Given the description of an element on the screen output the (x, y) to click on. 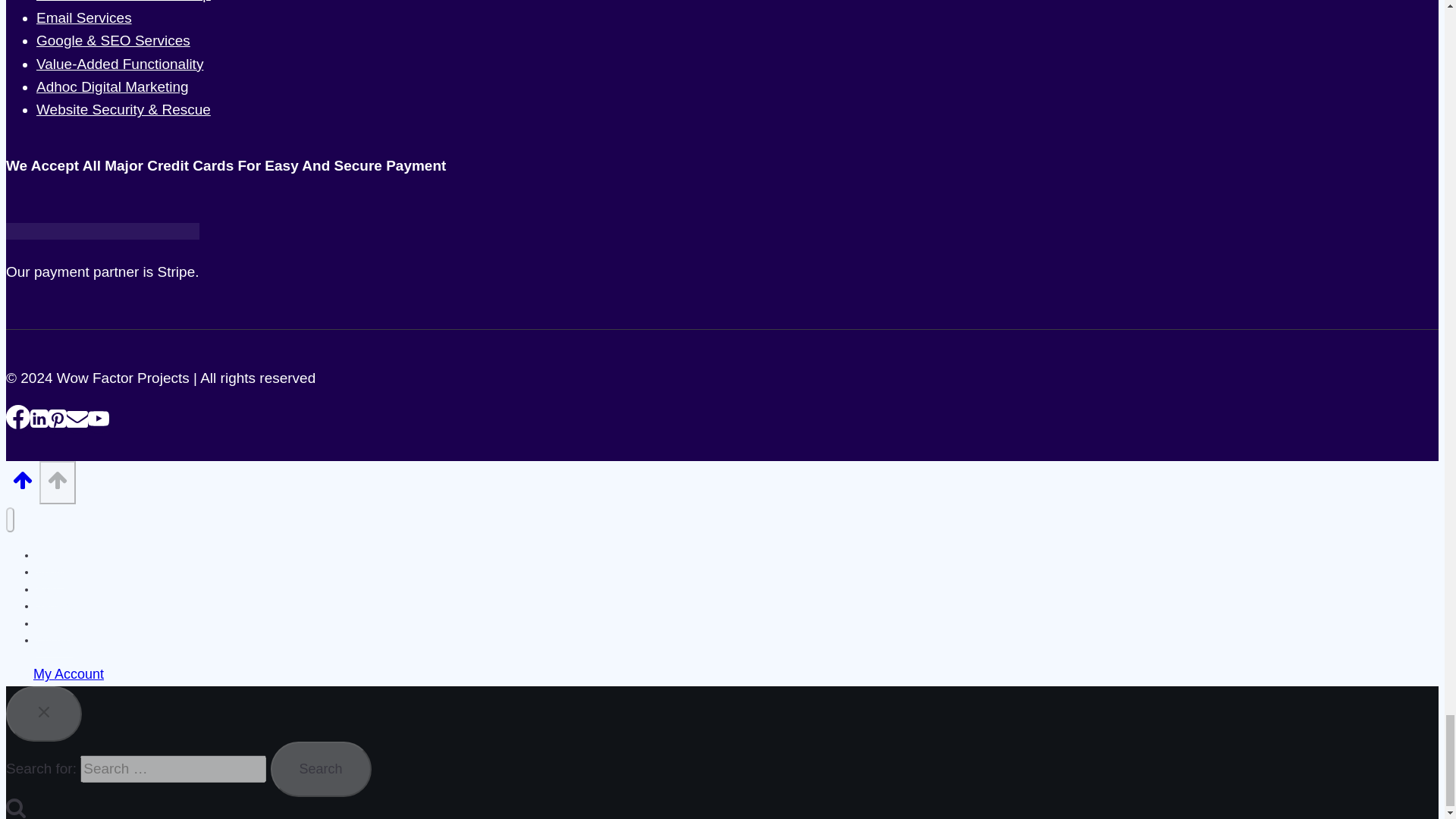
Email (76, 422)
Scroll to top (22, 479)
Gallery (52, 623)
Contact (54, 640)
Search (15, 806)
Facebook (17, 416)
Scroll to top (22, 484)
Services (56, 605)
Value-Added Functionality (119, 64)
YouTube (98, 422)
Scroll to top (57, 479)
Search (320, 769)
Search (320, 769)
YouTube (98, 418)
Email Services (84, 17)
